Given the description of an element on the screen output the (x, y) to click on. 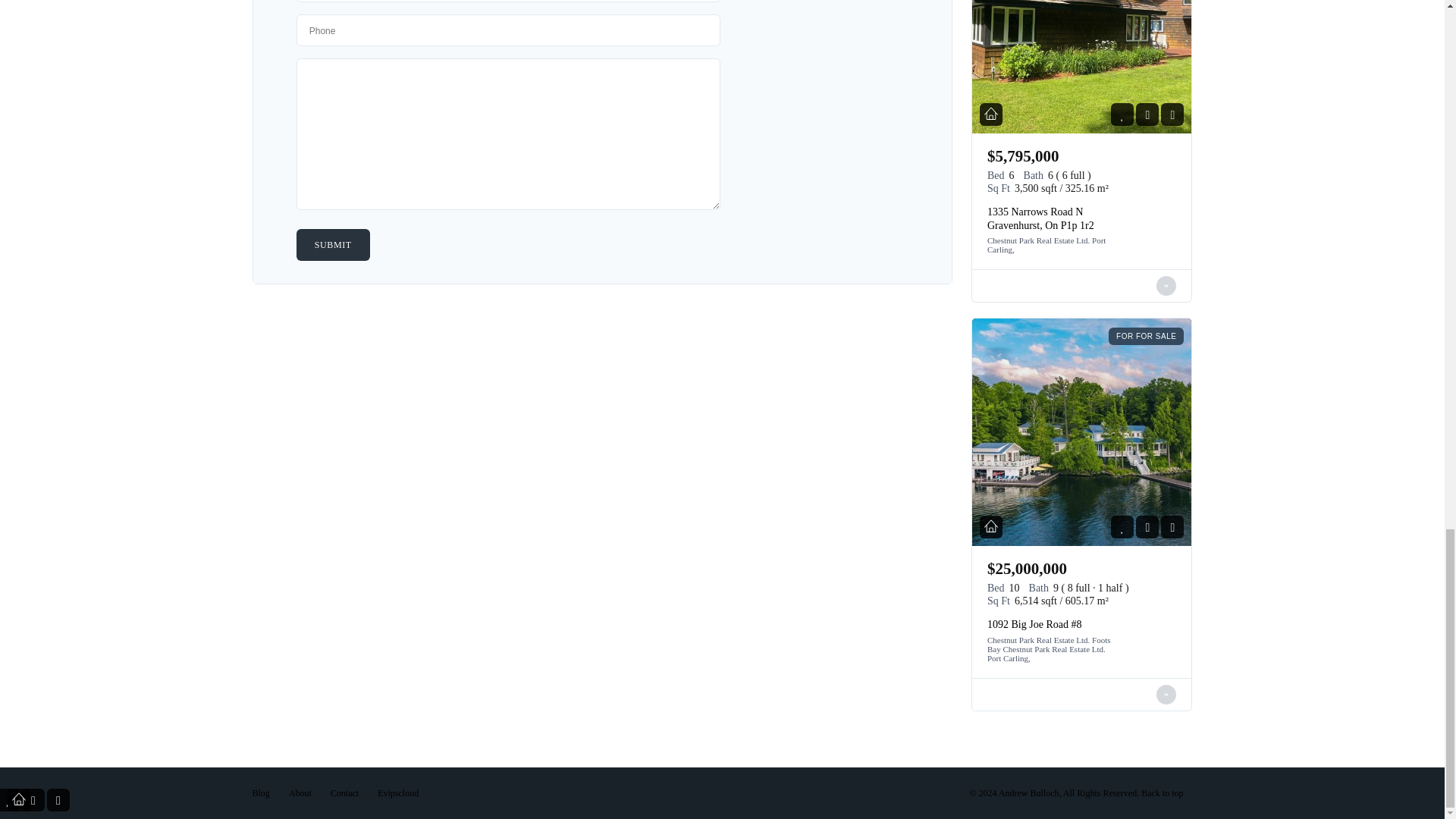
Submit (333, 245)
